Given the description of an element on the screen output the (x, y) to click on. 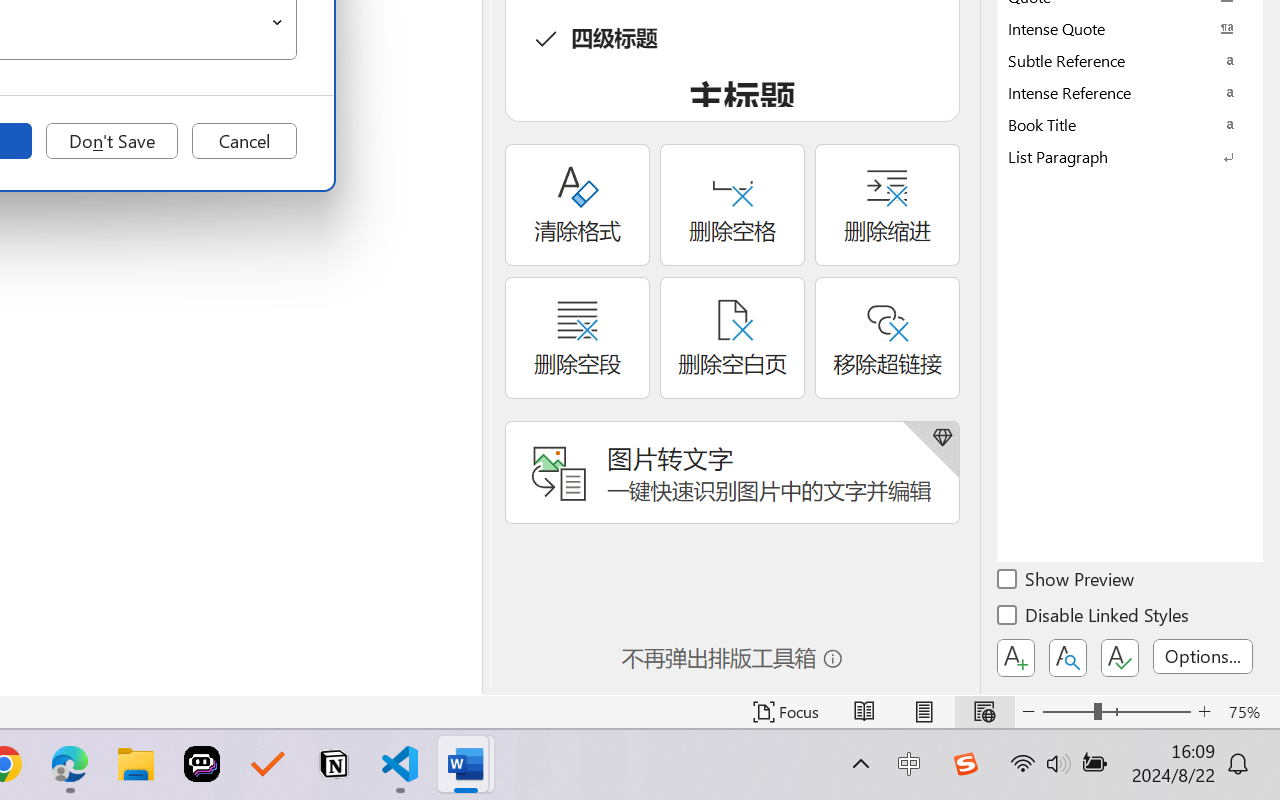
Subtle Reference (1130, 60)
Read Mode (864, 712)
Disable Linked Styles (1094, 618)
Notion (333, 764)
Zoom Out (1067, 712)
Show Preview (1067, 582)
Intense Quote (1130, 28)
Intense Reference (1130, 92)
